Given the description of an element on the screen output the (x, y) to click on. 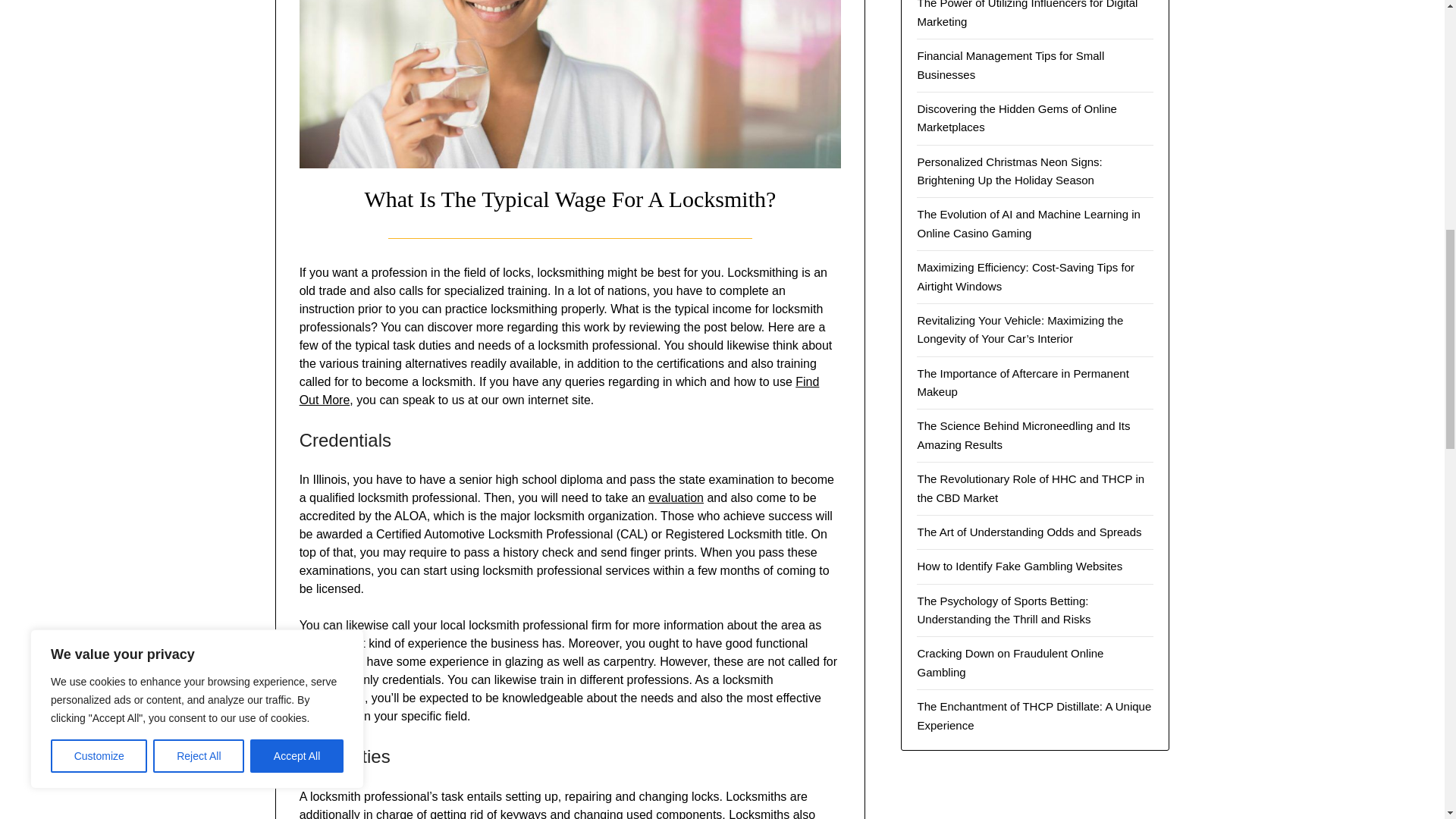
keyways (523, 813)
Discovering the Hidden Gems of Online Marketplaces (1016, 117)
Find Out More (559, 390)
Financial Management Tips for Small Businesses (1010, 64)
Maximizing Efficiency: Cost-Saving Tips for Airtight Windows (1025, 276)
evaluation (675, 497)
The Power of Utilizing Influencers for Digital Marketing (1027, 13)
